Given the description of an element on the screen output the (x, y) to click on. 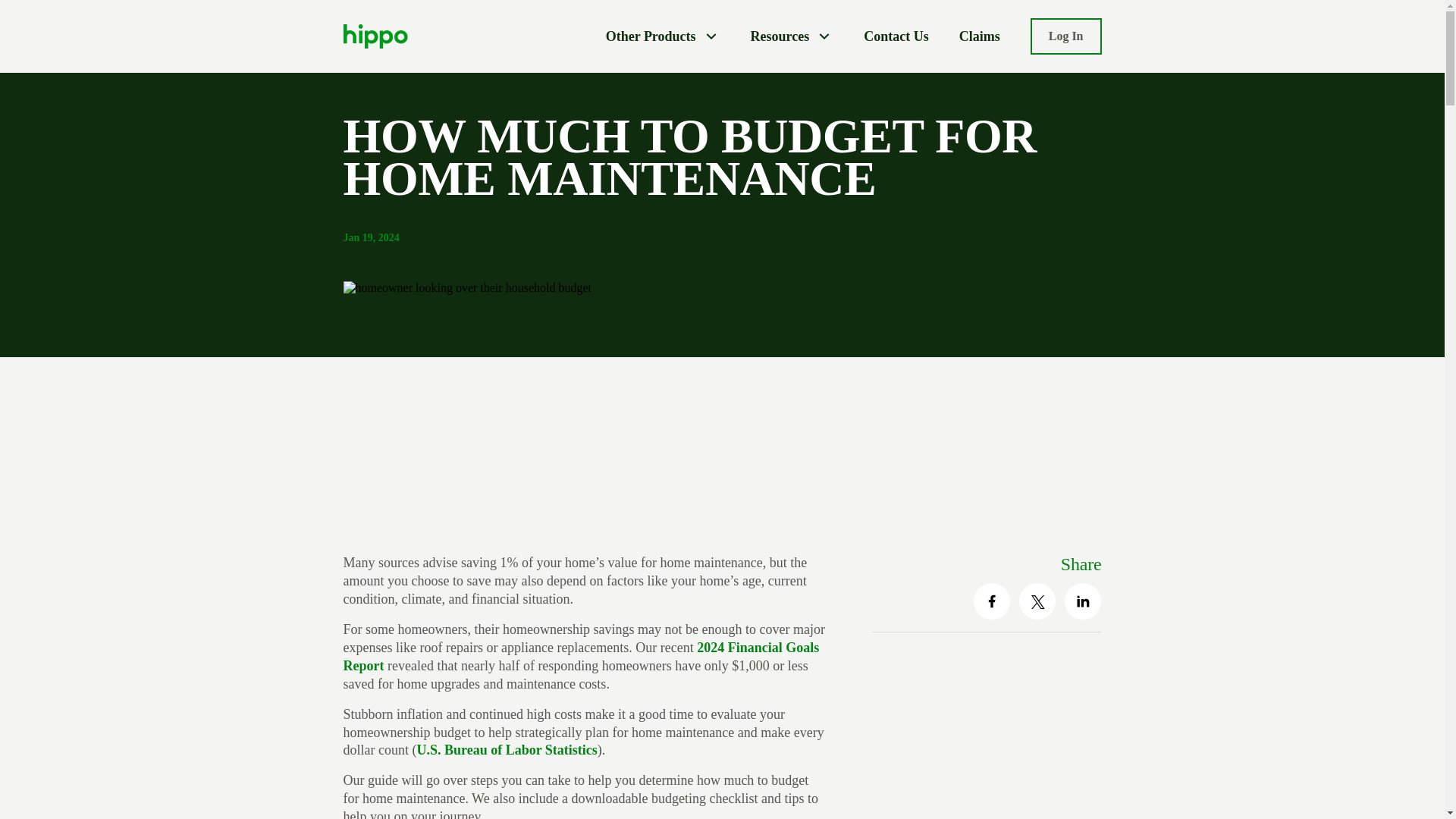
Log In (1066, 36)
Other Products (662, 36)
Resources (792, 36)
Claims (979, 36)
Contact Us (895, 36)
